Given the description of an element on the screen output the (x, y) to click on. 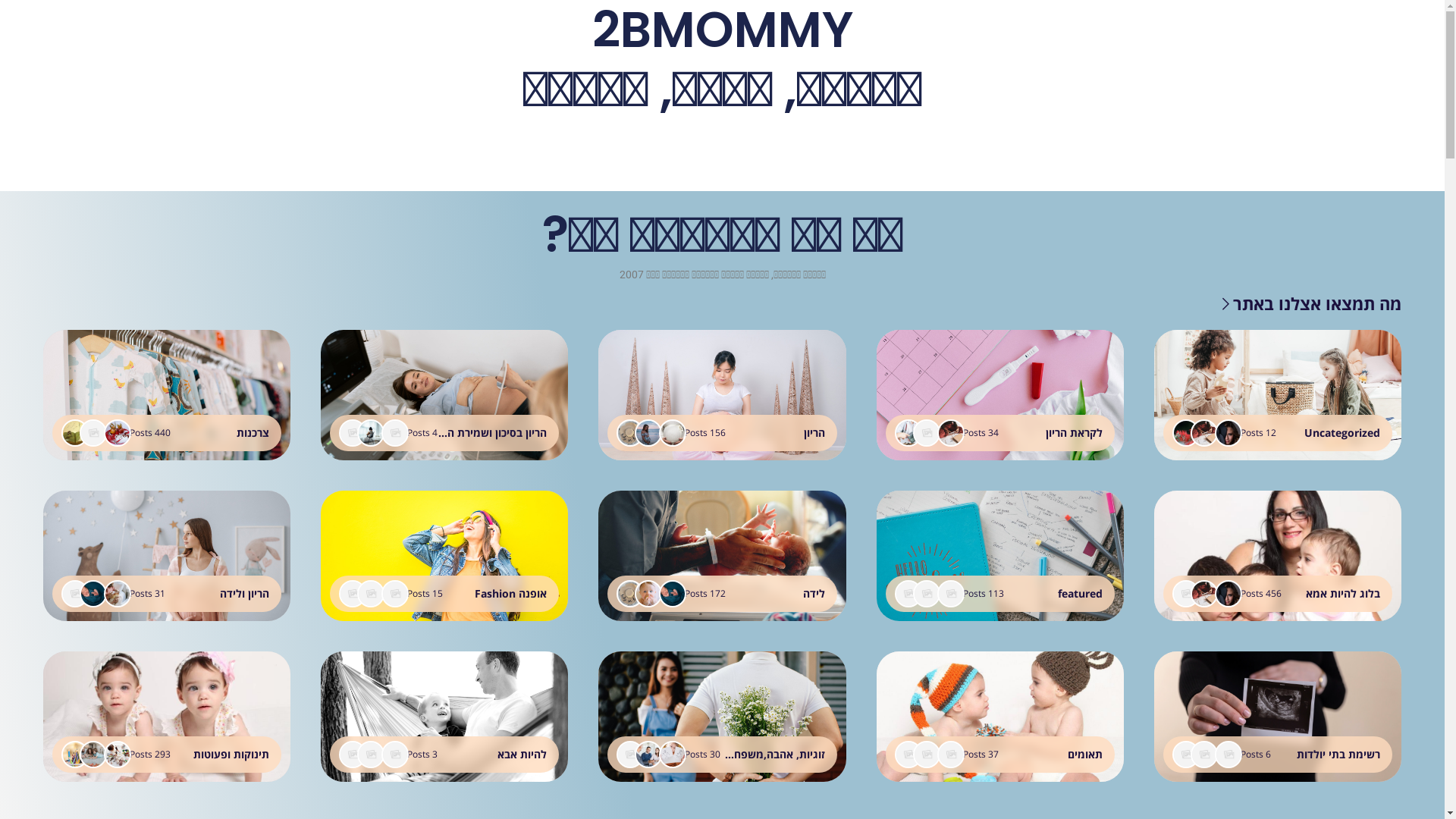
featured
113 Posts Element type: text (999, 555)
Uncategorized
12 Posts
D Element type: text (1277, 394)
